Given the description of an element on the screen output the (x, y) to click on. 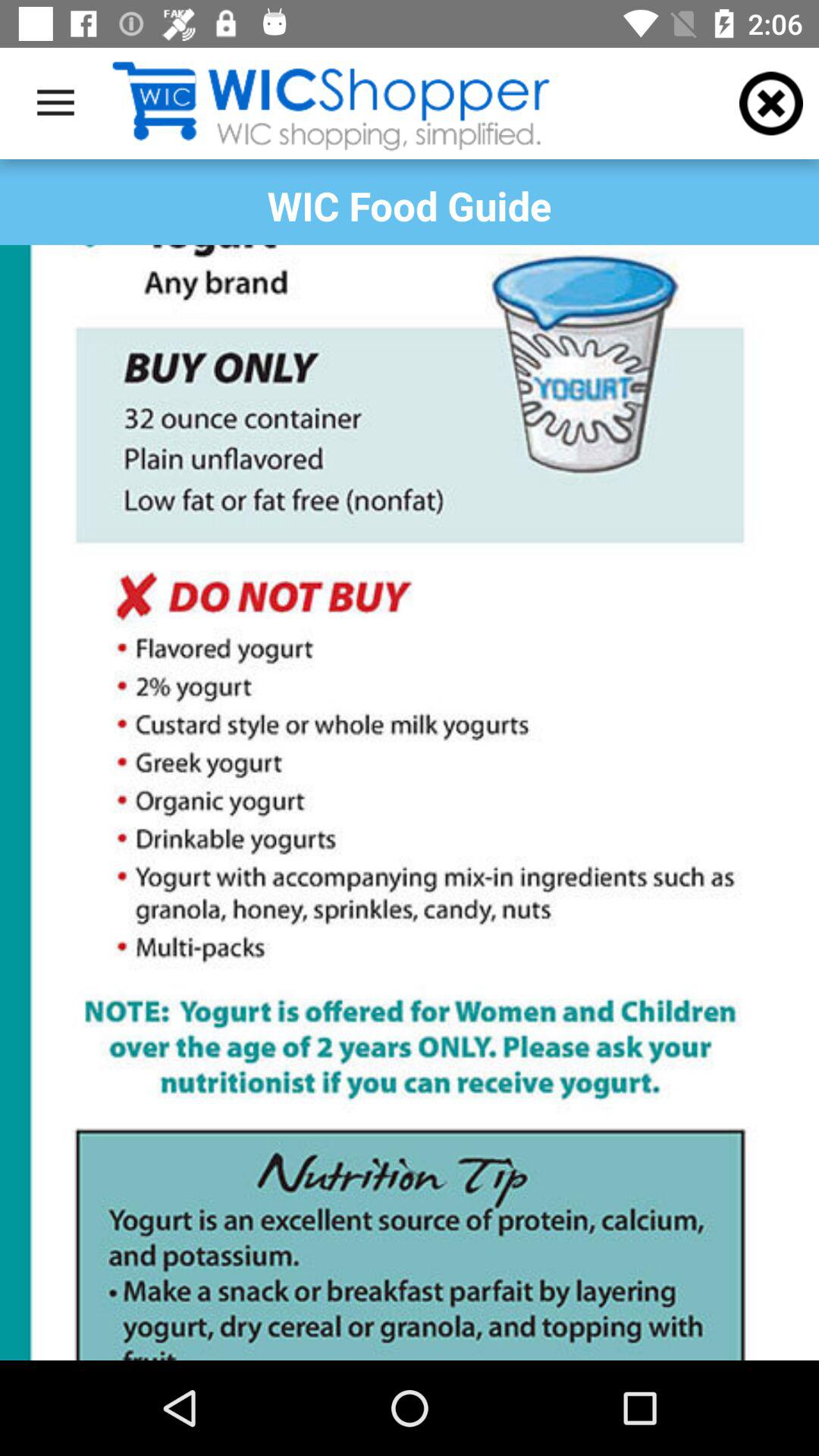
food guide (409, 802)
